Given the description of an element on the screen output the (x, y) to click on. 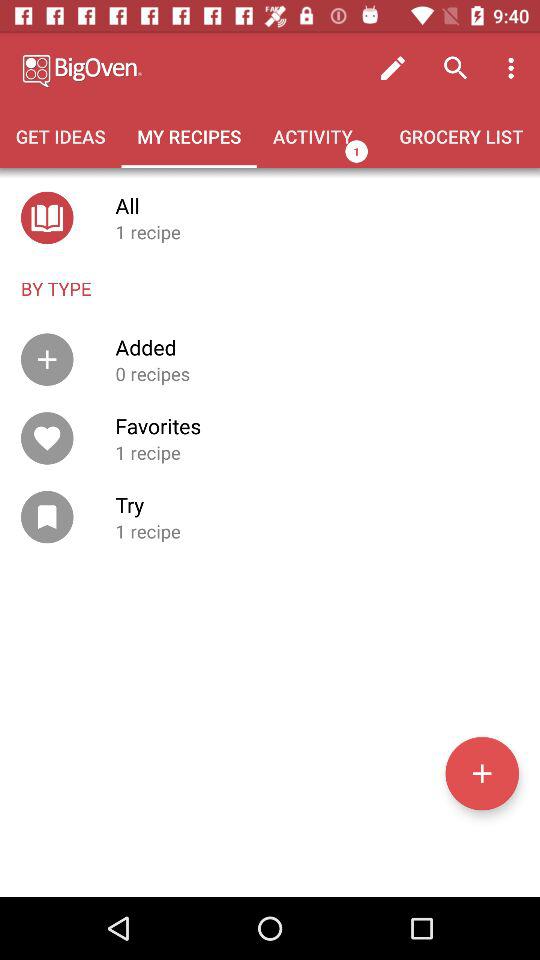
choose the icon below 1 recipe item (482, 773)
